Given the description of an element on the screen output the (x, y) to click on. 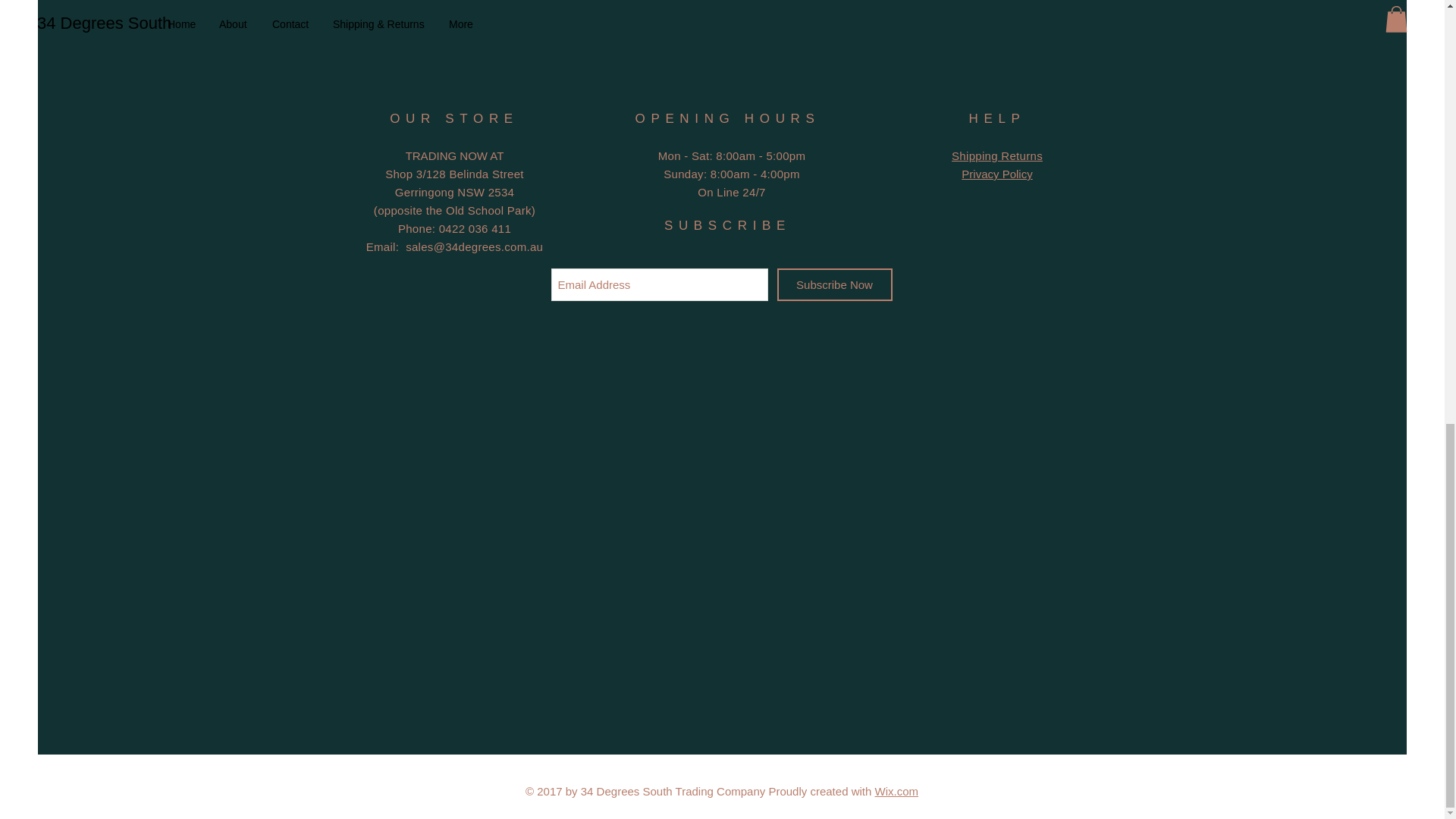
Privacy Policy (996, 173)
Mon - Sat (684, 155)
Shipping Returns (997, 155)
Subscribe Now (833, 284)
